Given the description of an element on the screen output the (x, y) to click on. 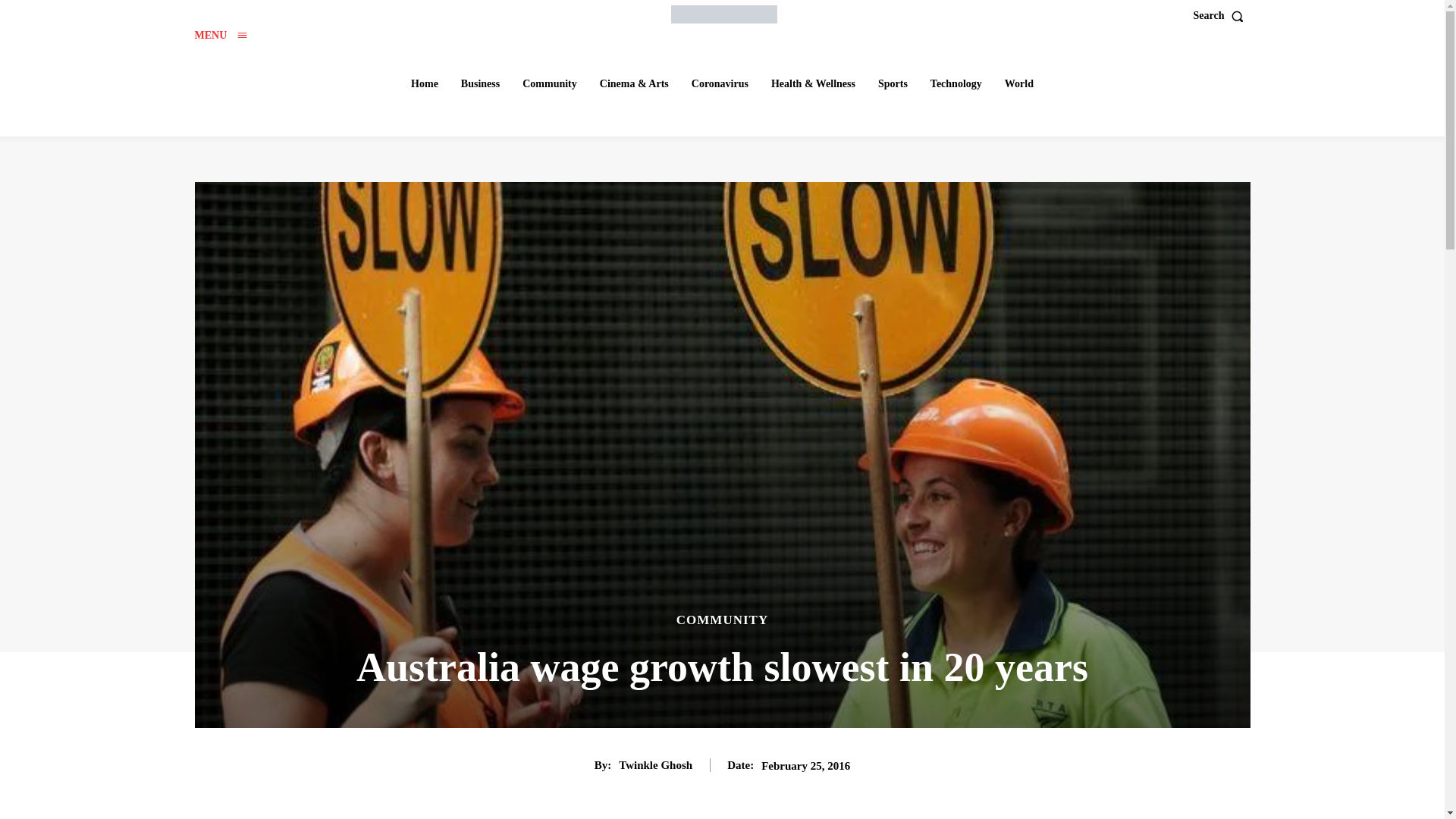
Search (1221, 15)
Community (550, 83)
World (1019, 83)
Sports (892, 83)
MENU (220, 34)
The Indian Telegraph (724, 13)
Home (424, 83)
Technology (956, 83)
Coronavirus (719, 83)
Business (479, 83)
